Given the description of an element on the screen output the (x, y) to click on. 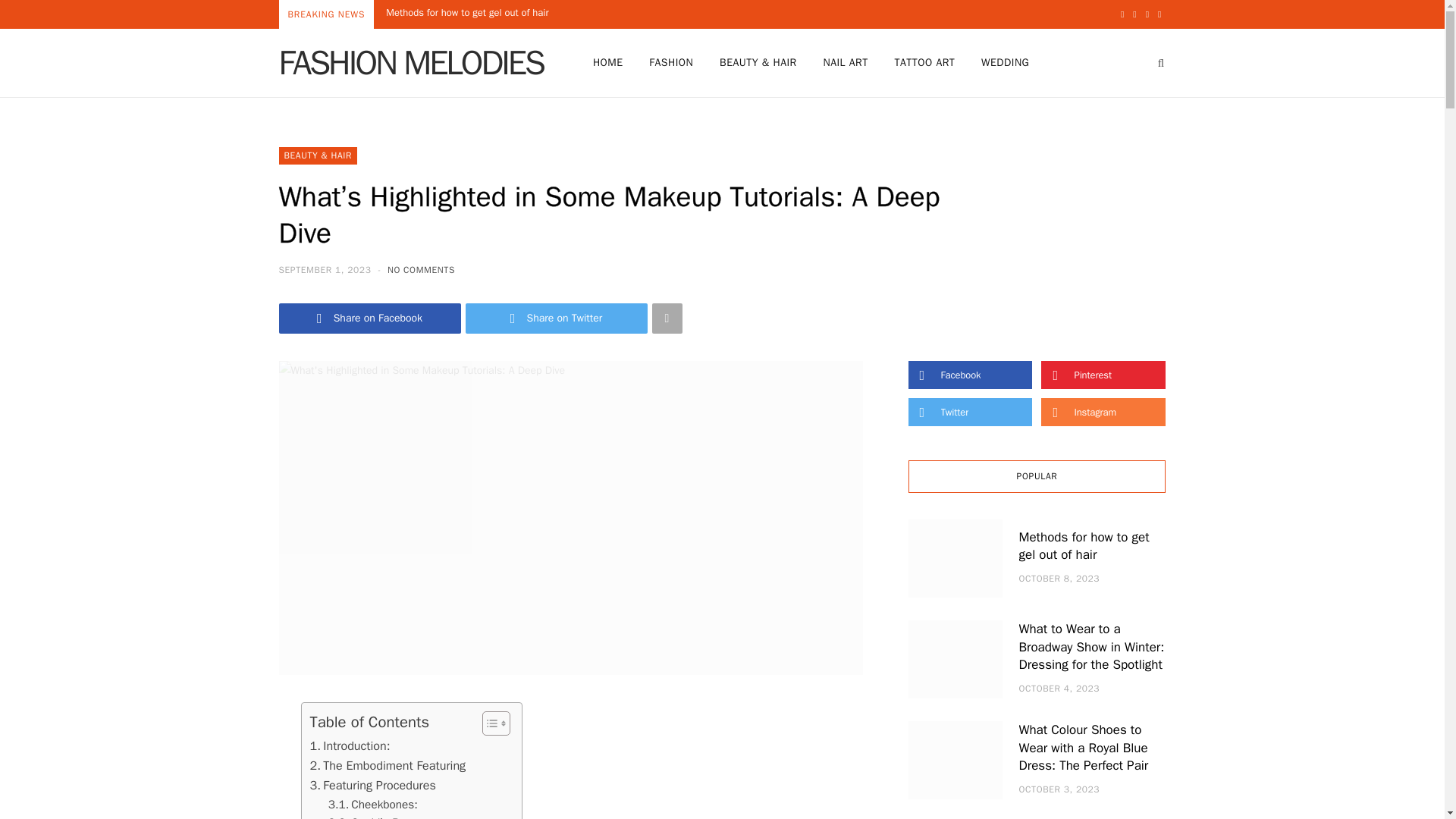
FASHION (670, 62)
Fashion Melodies (411, 62)
Share on Facebook (370, 318)
Introduction: (349, 745)
The Embodiment Featuring (386, 765)
Cheekbones: (373, 804)
Share on Twitter (556, 318)
SEPTEMBER 1, 2023 (326, 269)
NAIL ART (844, 62)
Share on Facebook (370, 318)
